Given the description of an element on the screen output the (x, y) to click on. 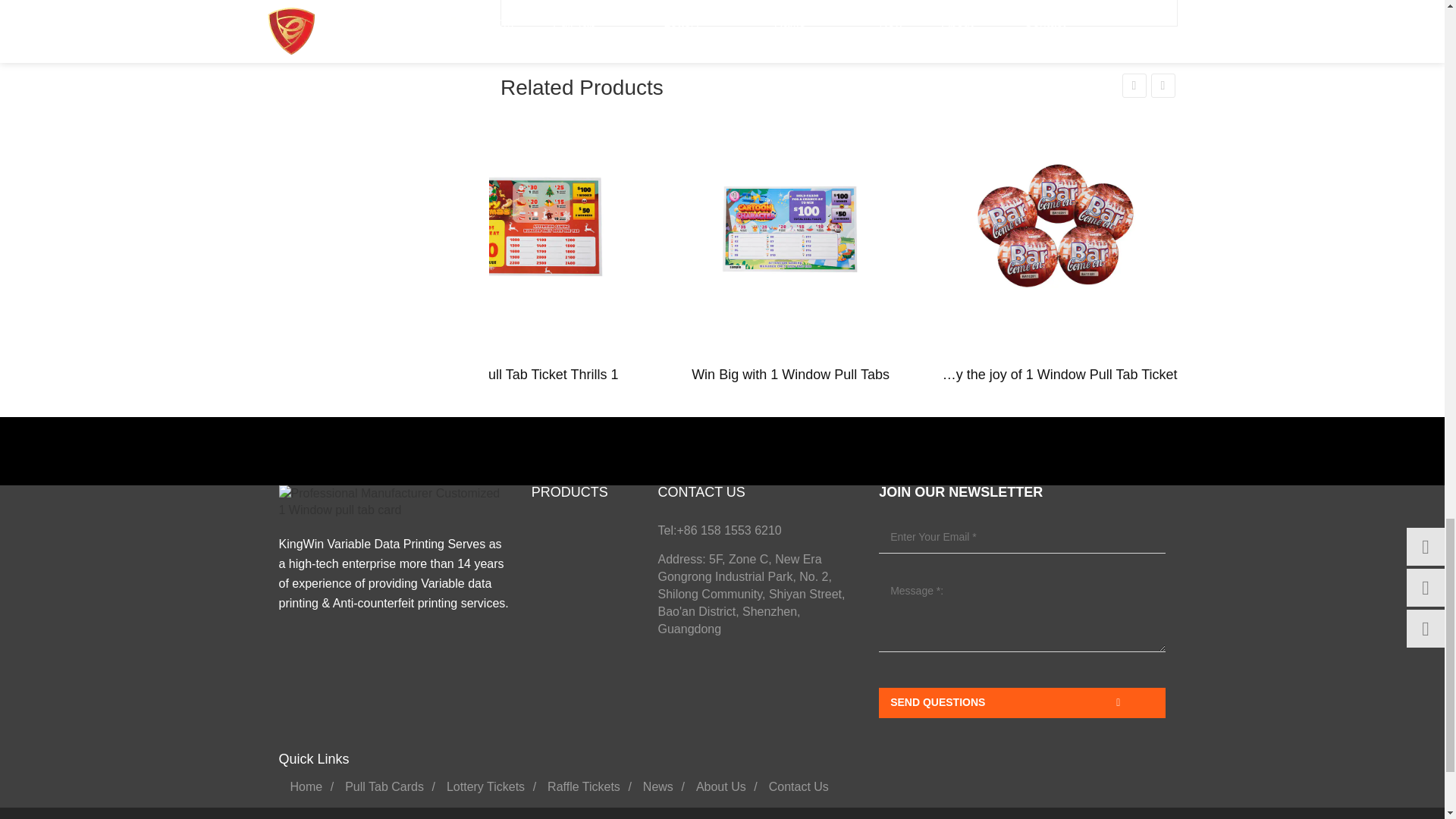
Win Big with 1 Window Pull Tabs (789, 225)
1 Window Pull Tab Ticket Thrills (523, 225)
Enjoy the joy of 1 Window Pull Tab Ticket (1057, 225)
